Given the description of an element on the screen output the (x, y) to click on. 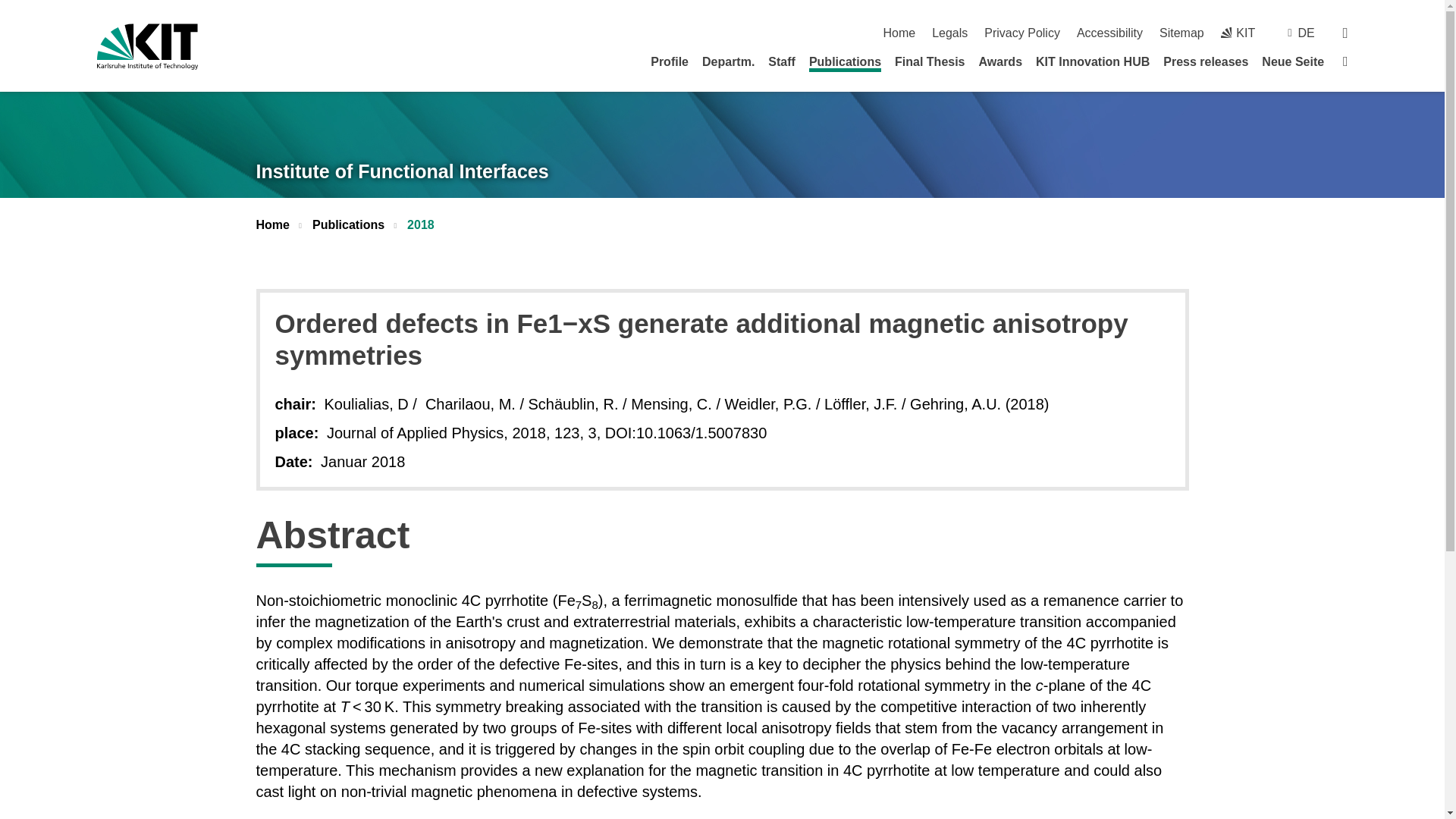
Sitemap (1181, 32)
Accessibility (1109, 32)
KIT-Homepage (1238, 32)
Profile (669, 61)
KIT-Homepage (147, 46)
KIT (1238, 32)
startpage (898, 32)
Legals (949, 32)
Privacy Policy (1021, 32)
Departm. (727, 61)
DE (1305, 32)
Institute of Functional Interfaces (402, 171)
Home (898, 32)
